Given the description of an element on the screen output the (x, y) to click on. 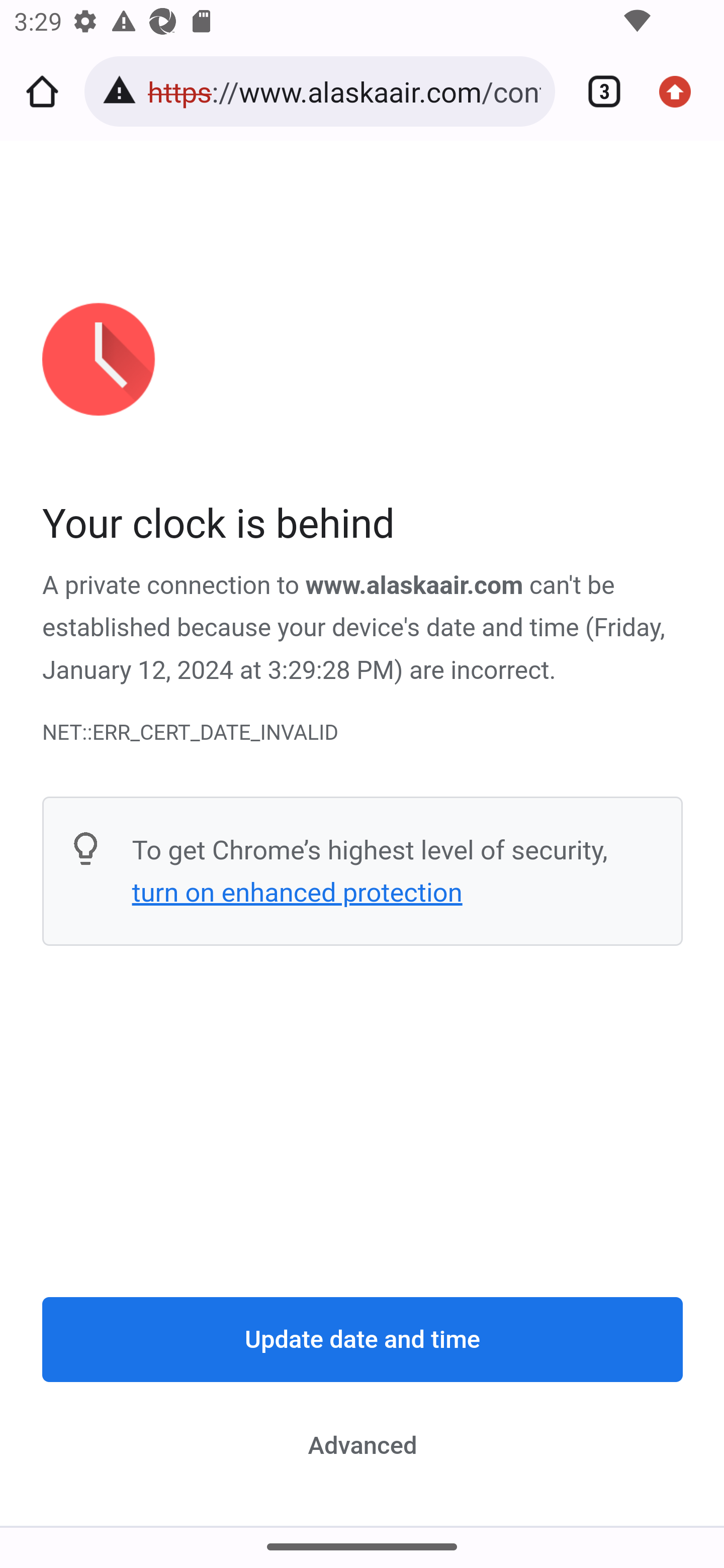
Home (42, 91)
This page is dangerous (122, 91)
Switch or close tabs (597, 91)
Update available. More options (681, 91)
NET::ERR_CERT_DATE_INVALID (362, 732)
turn on enhanced protection (296, 892)
Update date and time (362, 1339)
Advanced (362, 1445)
